Given the description of an element on the screen output the (x, y) to click on. 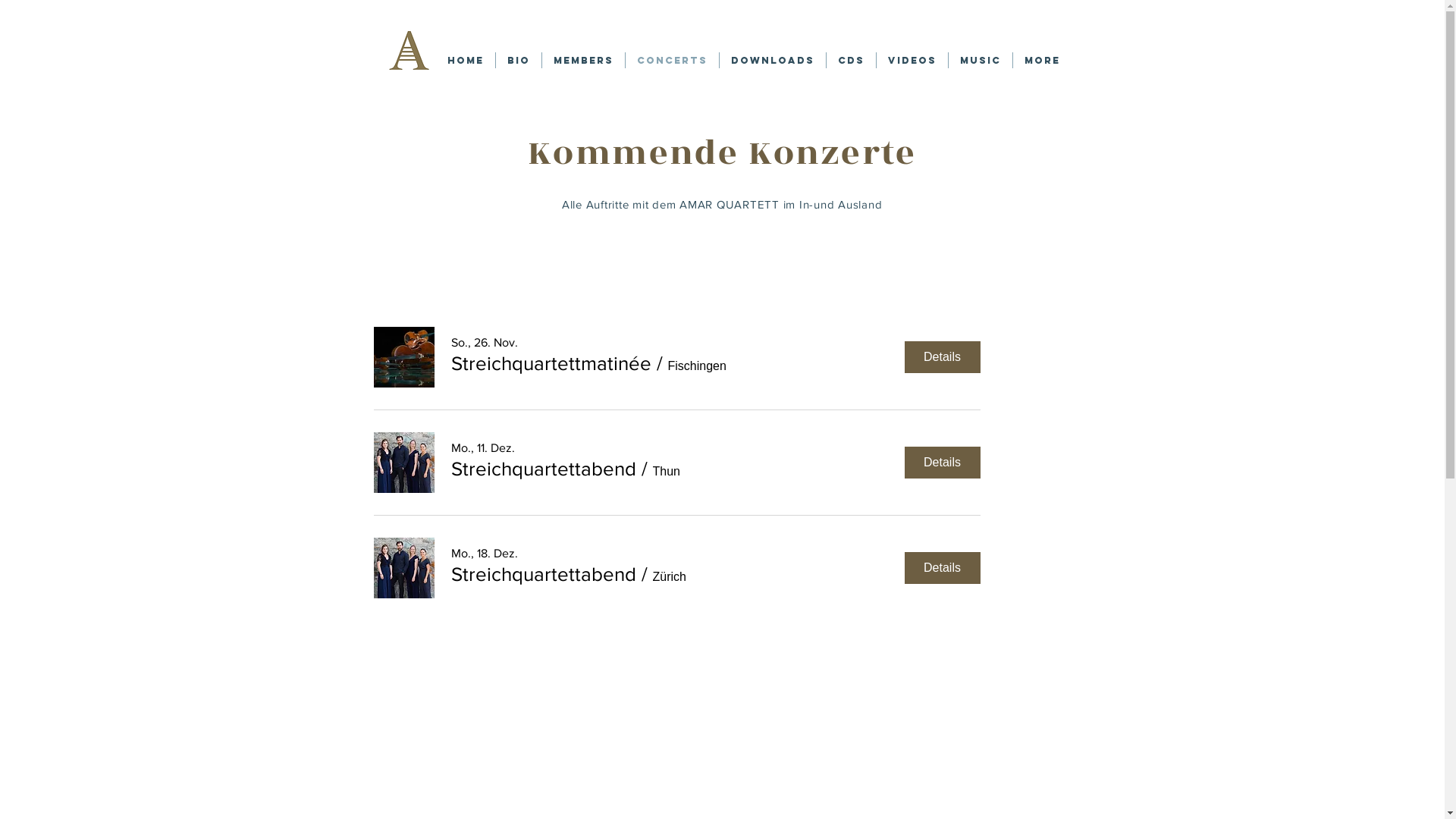
Home Element type: text (464, 60)
Music Element type: text (979, 60)
Concerts Element type: text (671, 60)
Videos Element type: text (911, 60)
Mo., 11. Dez.
Streichquartettabend
 / 
Thun Element type: text (569, 462)
Members Element type: text (582, 60)
Bio Element type: text (518, 60)
CDs Element type: text (850, 60)
Details Element type: text (941, 567)
Downloads Element type: text (771, 60)
Details Element type: text (941, 462)
Details Element type: text (941, 357)
